Given the description of an element on the screen output the (x, y) to click on. 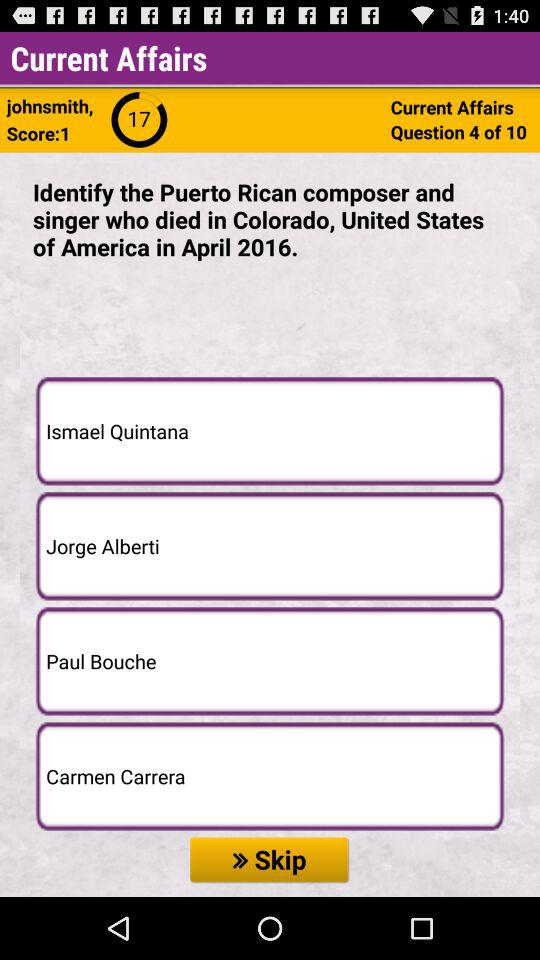
click on jorge alberti (269, 545)
click on the skip button (269, 860)
click on the first option (269, 430)
